Given the description of an element on the screen output the (x, y) to click on. 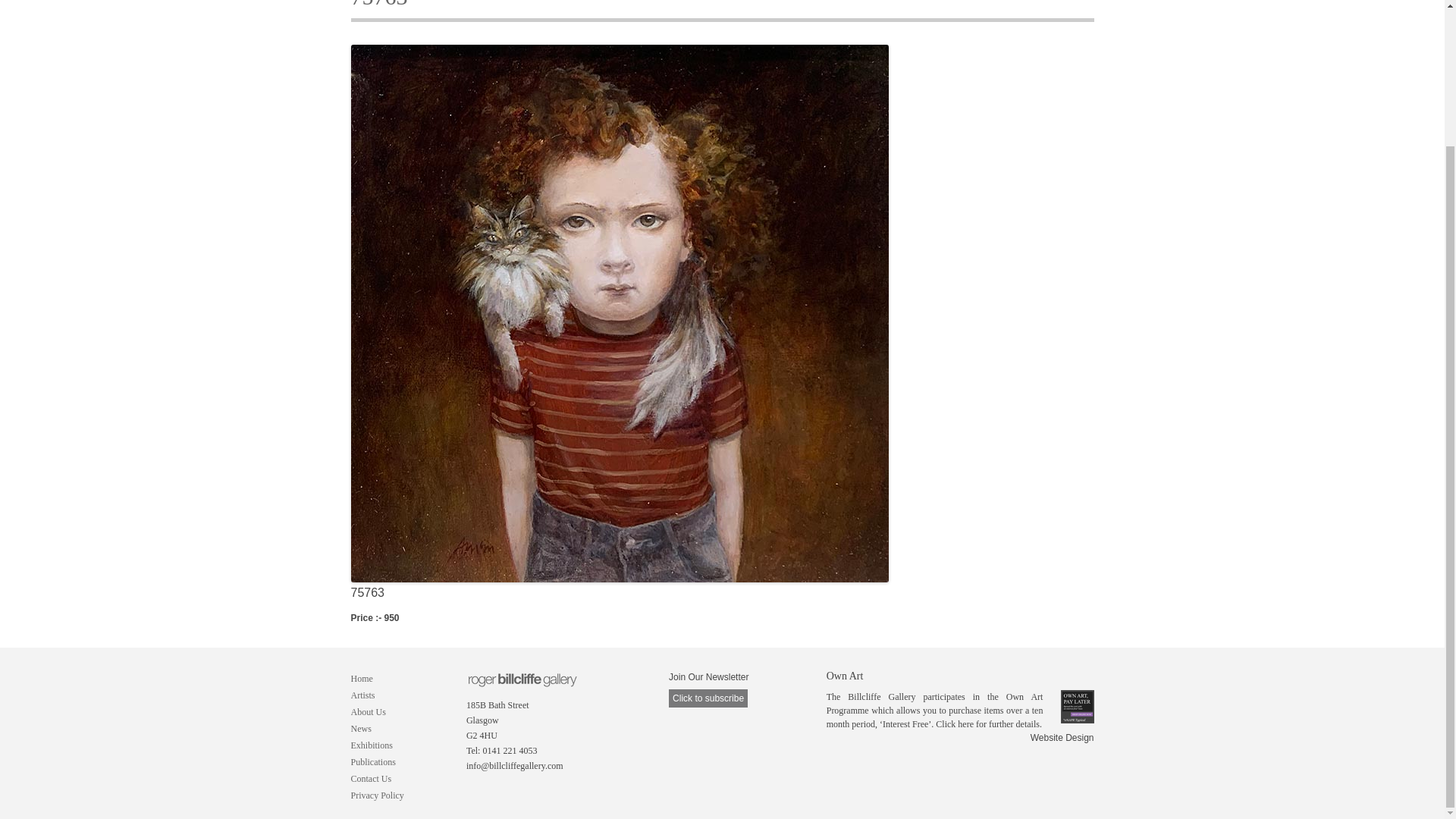
Contact Us (370, 778)
Artists (362, 695)
Privacy Policy (376, 795)
Click to subscribe (708, 698)
Exhibitions (370, 745)
About Us (367, 711)
Publications (372, 761)
1 (474, 792)
Home (361, 678)
2 (501, 792)
Website Design (1062, 737)
News (360, 728)
3 (525, 792)
